Given the description of an element on the screen output the (x, y) to click on. 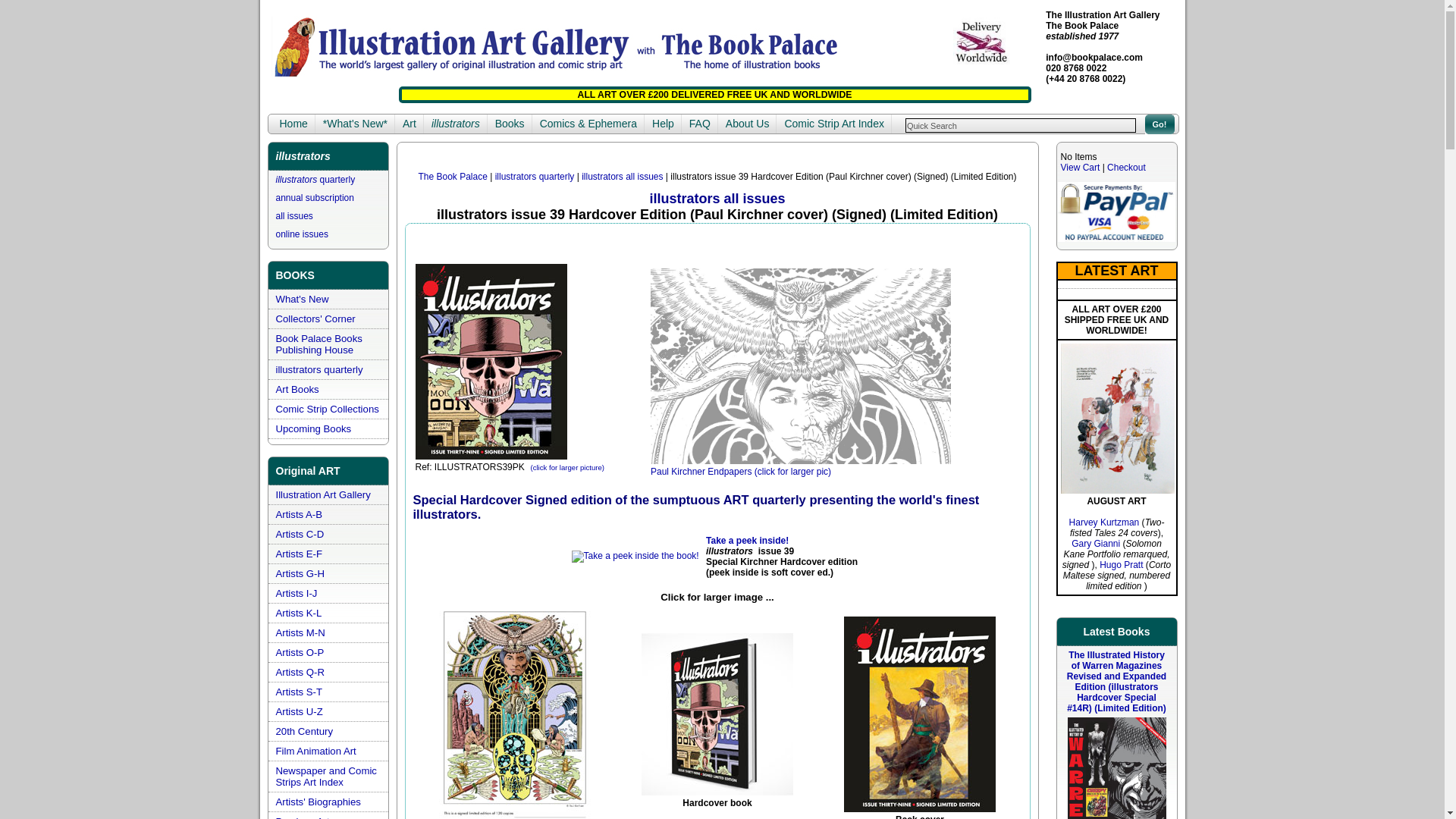
20th Century (304, 731)
Home page (292, 123)
online issues (302, 234)
Art Books (297, 389)
Collectors' Corner (315, 318)
Artists S-T (299, 691)
Artists C-D (300, 533)
Art (408, 123)
Book Palace Books Publishing House (319, 343)
About us (747, 123)
